Given the description of an element on the screen output the (x, y) to click on. 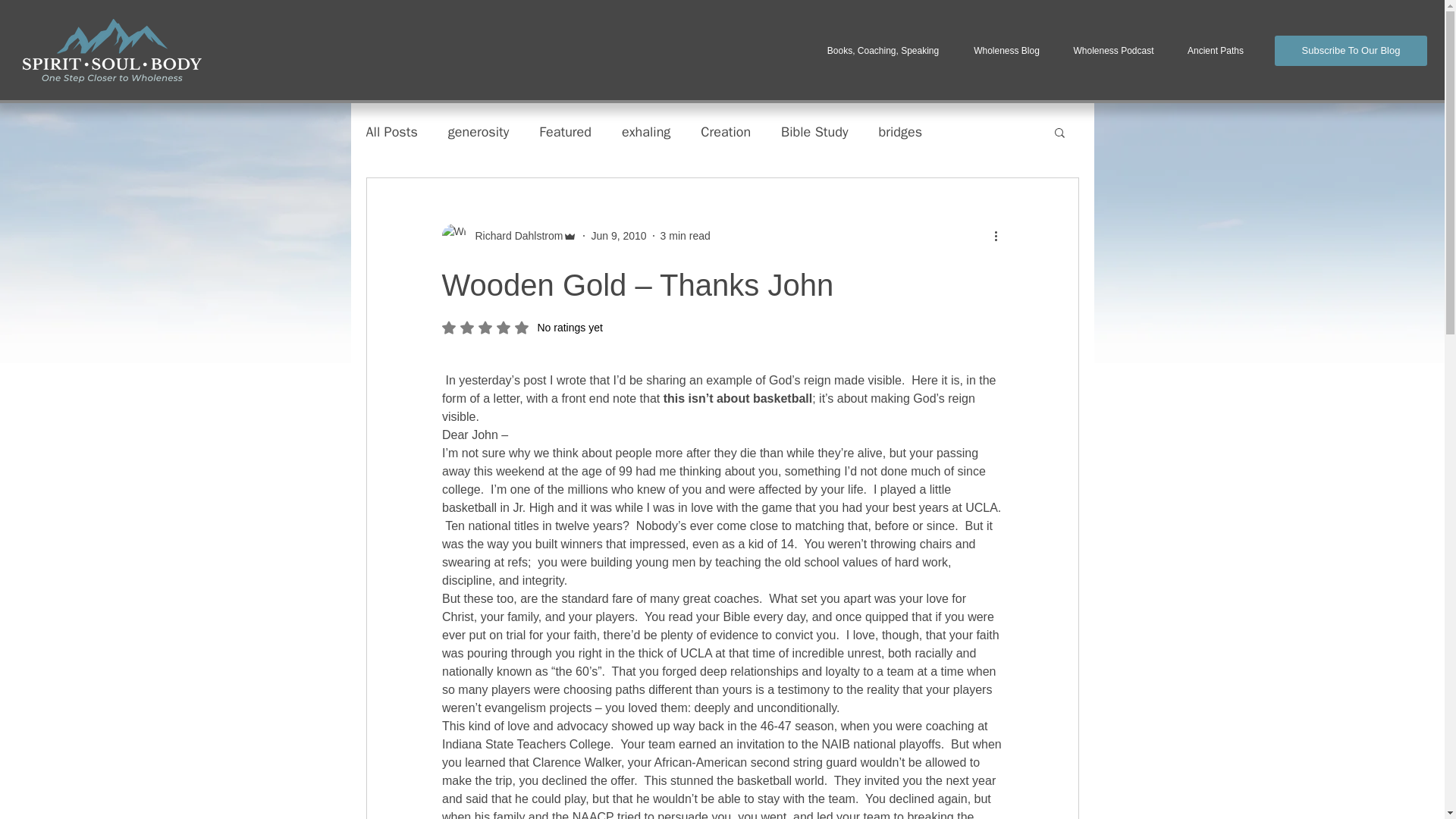
Jun 9, 2010 (618, 234)
exhaling (645, 131)
bridges (901, 131)
All Posts (390, 131)
Ancient Paths (1214, 50)
Bible Study (813, 131)
generosity (478, 131)
Featured (564, 131)
Richard Dahlstrom (513, 235)
Richard Dahlstrom (508, 235)
Wholeness Blog (1005, 50)
3 min read (685, 234)
Subscribe To Our Blog (1350, 51)
Creation (725, 131)
Books, Coaching, Speaking (882, 50)
